Given the description of an element on the screen output the (x, y) to click on. 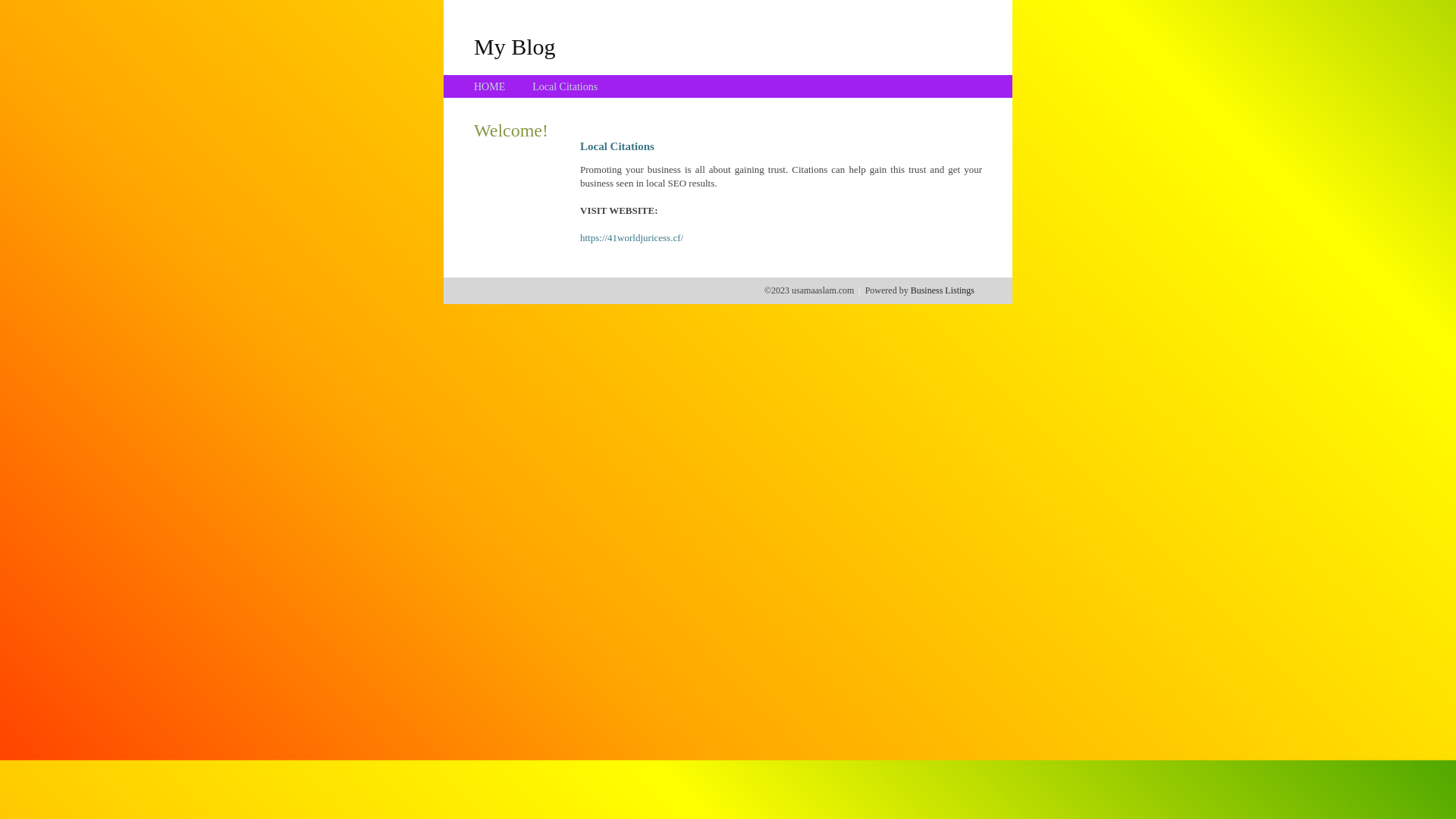
Business Listings Element type: text (942, 290)
HOME Element type: text (489, 86)
https://41worldjuricess.cf/ Element type: text (631, 237)
Local Citations Element type: text (564, 86)
My Blog Element type: text (514, 46)
